Given the description of an element on the screen output the (x, y) to click on. 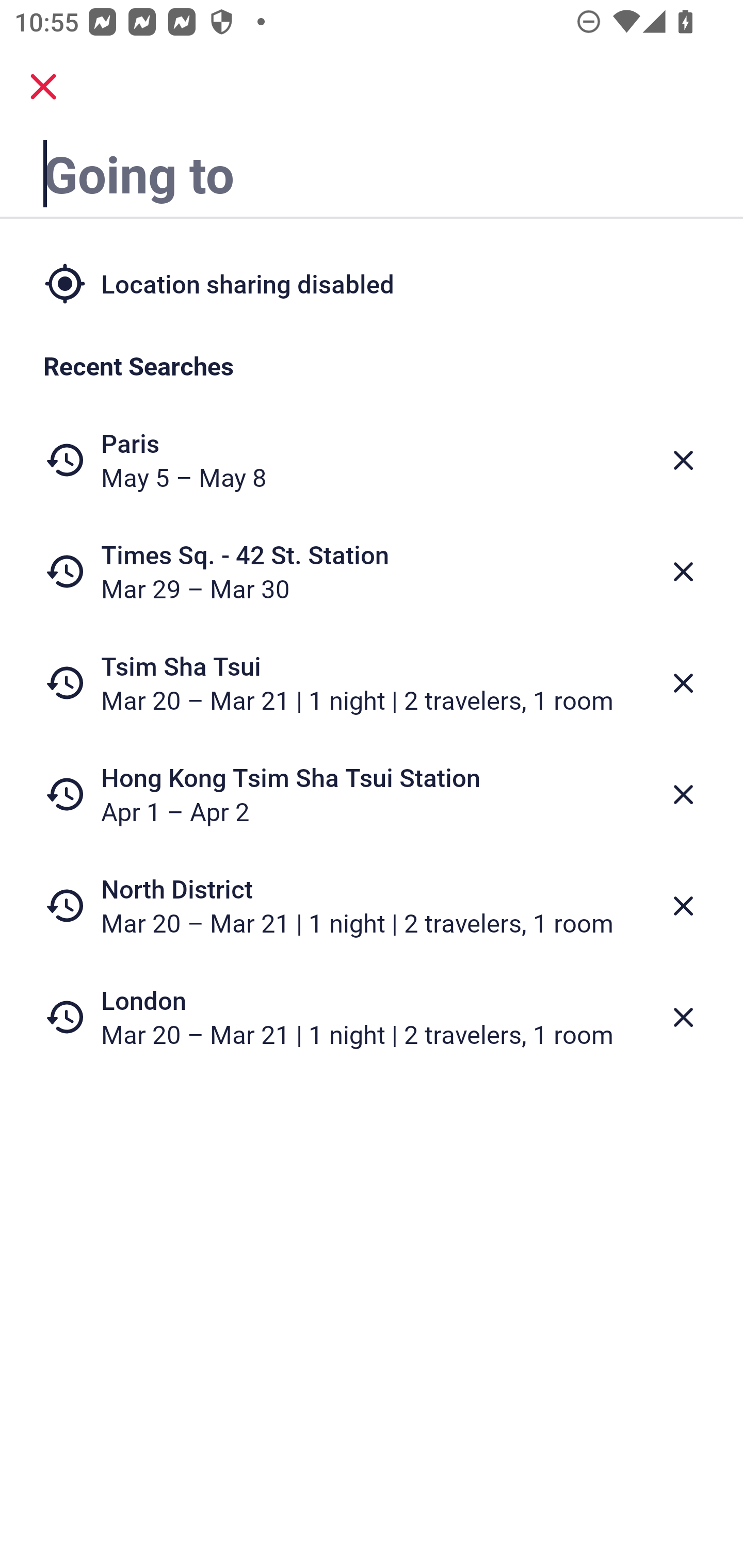
close. (43, 86)
Location sharing disabled (371, 283)
Paris May 5 – May 8 (371, 459)
Delete from recent searches (683, 460)
Times Sq. - 42 St. Station Mar 29 – Mar 30 (371, 571)
Delete from recent searches (683, 571)
Delete from recent searches (683, 682)
Hong Kong Tsim Sha Tsui Station Apr 1 – Apr 2 (371, 793)
Delete from recent searches (683, 794)
Delete from recent searches (683, 906)
Delete from recent searches (683, 1017)
